Given the description of an element on the screen output the (x, y) to click on. 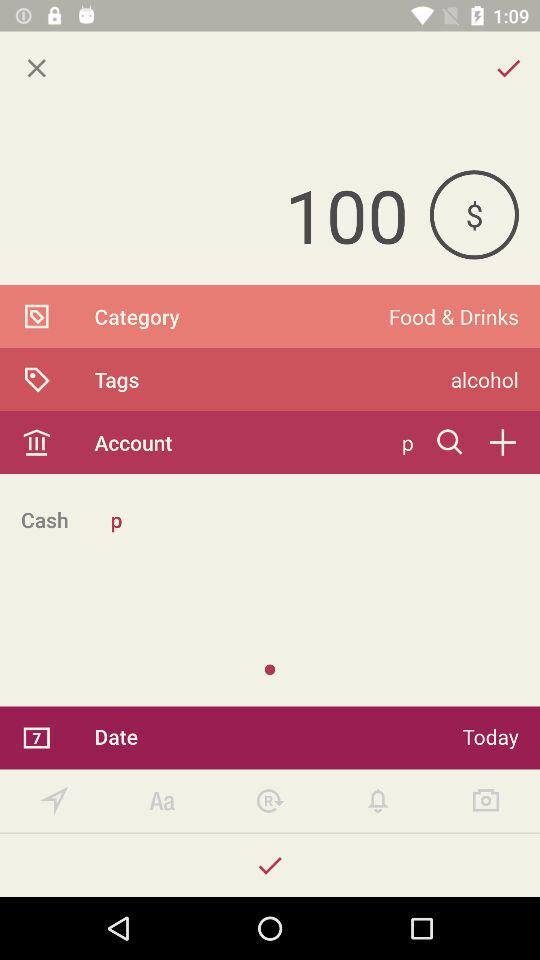
tap the 100 icon (214, 214)
